Given the description of an element on the screen output the (x, y) to click on. 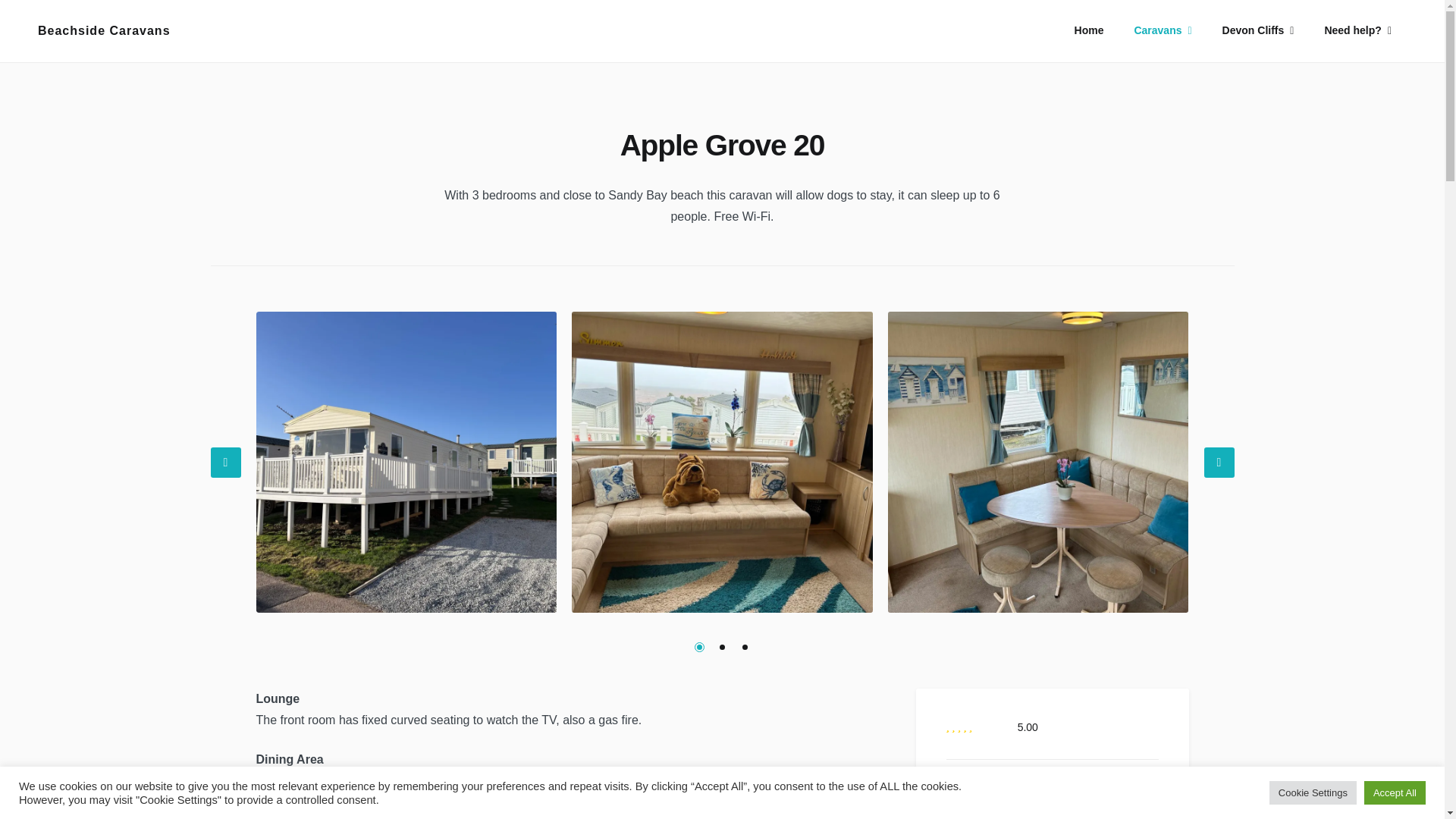
Caravans (1162, 30)
Beachside Caravans (103, 30)
Home (1089, 30)
